Given the description of an element on the screen output the (x, y) to click on. 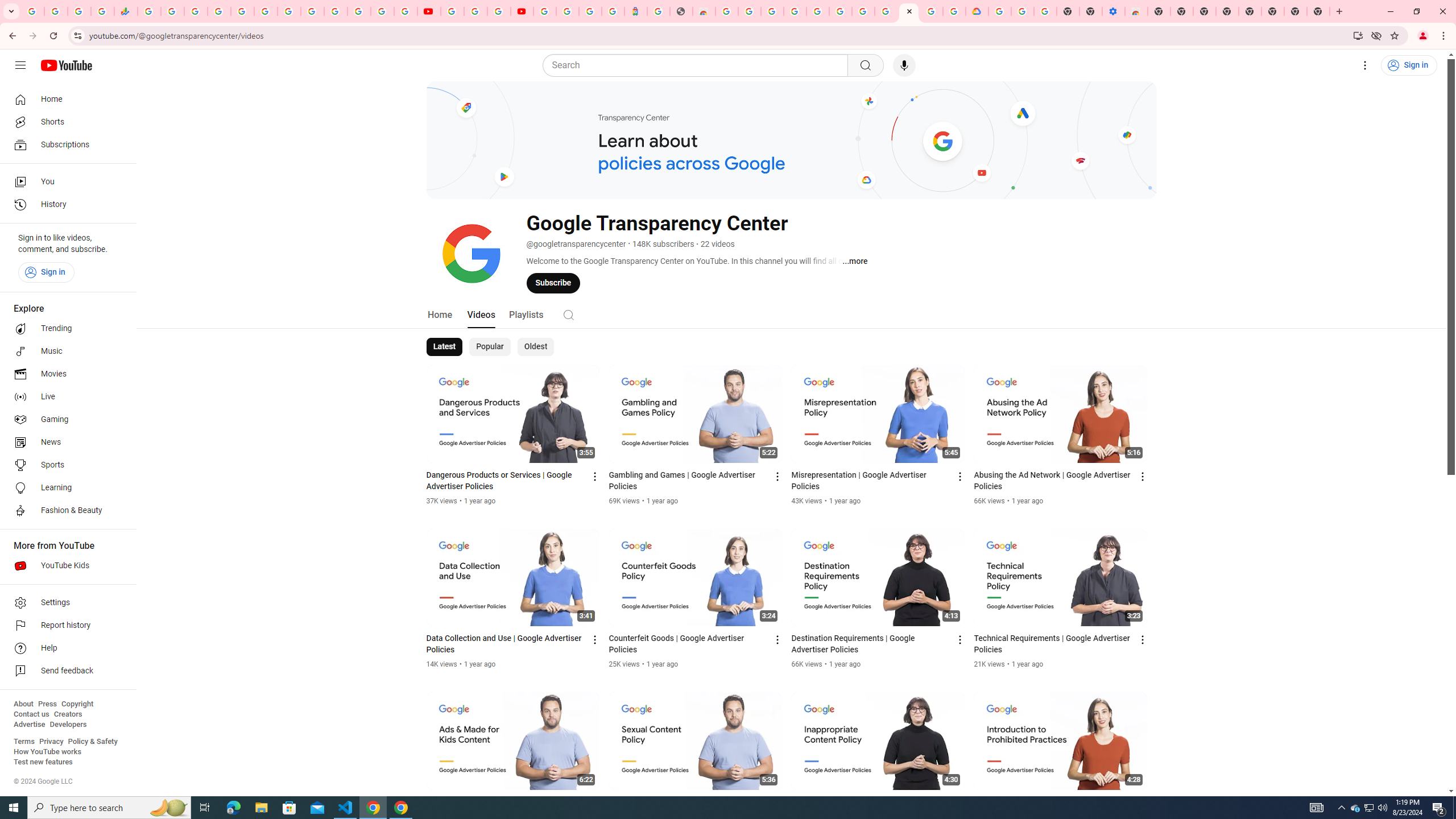
Videos (481, 314)
Sign in - Google Accounts (567, 11)
Settings - Accessibility (1113, 11)
Fashion & Beauty (64, 510)
Press (46, 703)
Terms (23, 741)
Subscribe (552, 282)
Browse the Google Chrome Community - Google Chrome Community (954, 11)
Sign in - Google Accounts (817, 11)
Home (64, 99)
Sign in - Google Accounts (218, 11)
Subscriptions (64, 144)
